Given the description of an element on the screen output the (x, y) to click on. 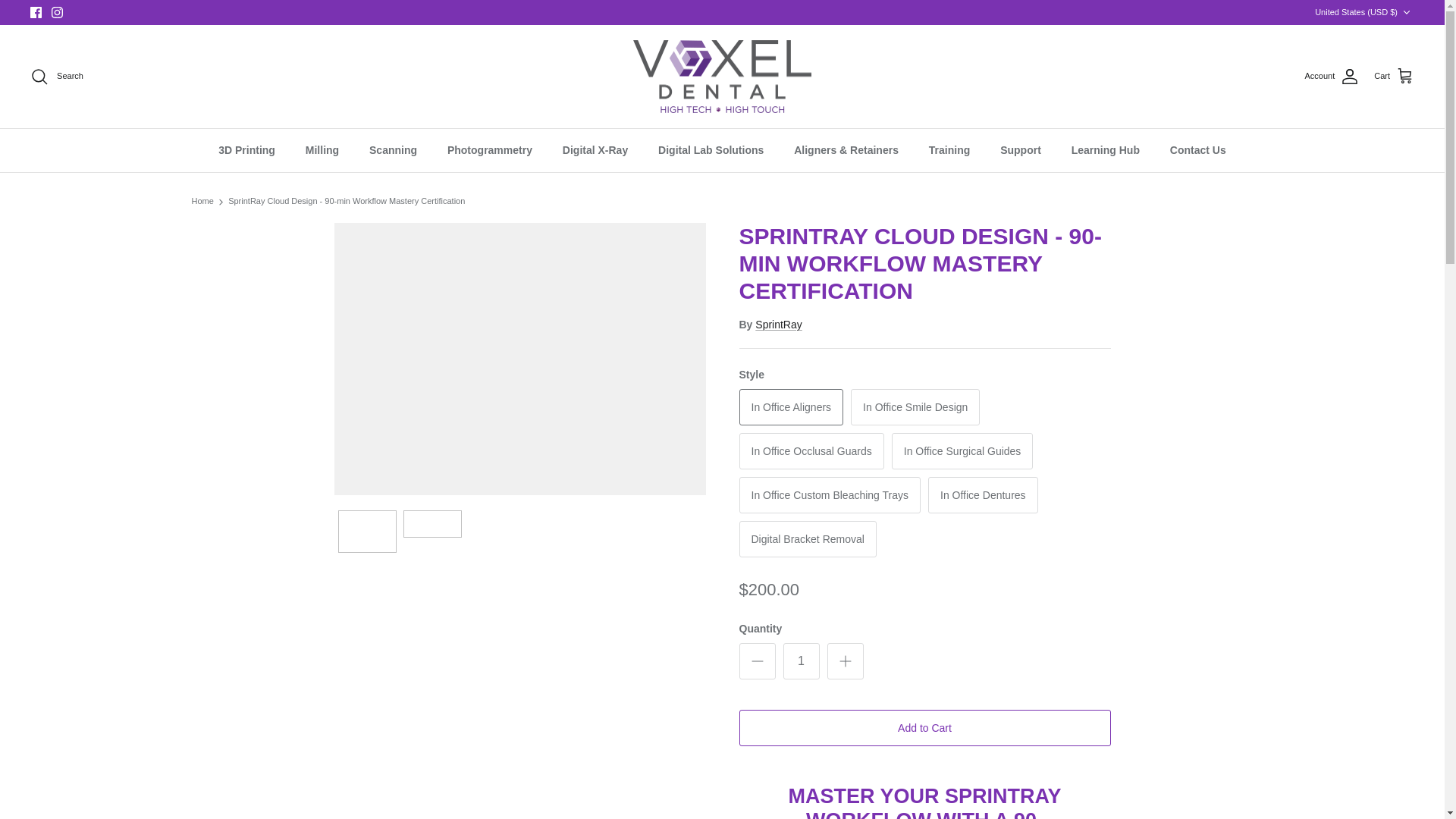
Minus (756, 660)
Facebook (36, 12)
Down (1406, 12)
3D Printing (246, 149)
Instagram (56, 12)
1 (800, 660)
Search (56, 76)
Instagram (56, 12)
Voxel Dental (721, 76)
Cart (1393, 76)
